Given the description of an element on the screen output the (x, y) to click on. 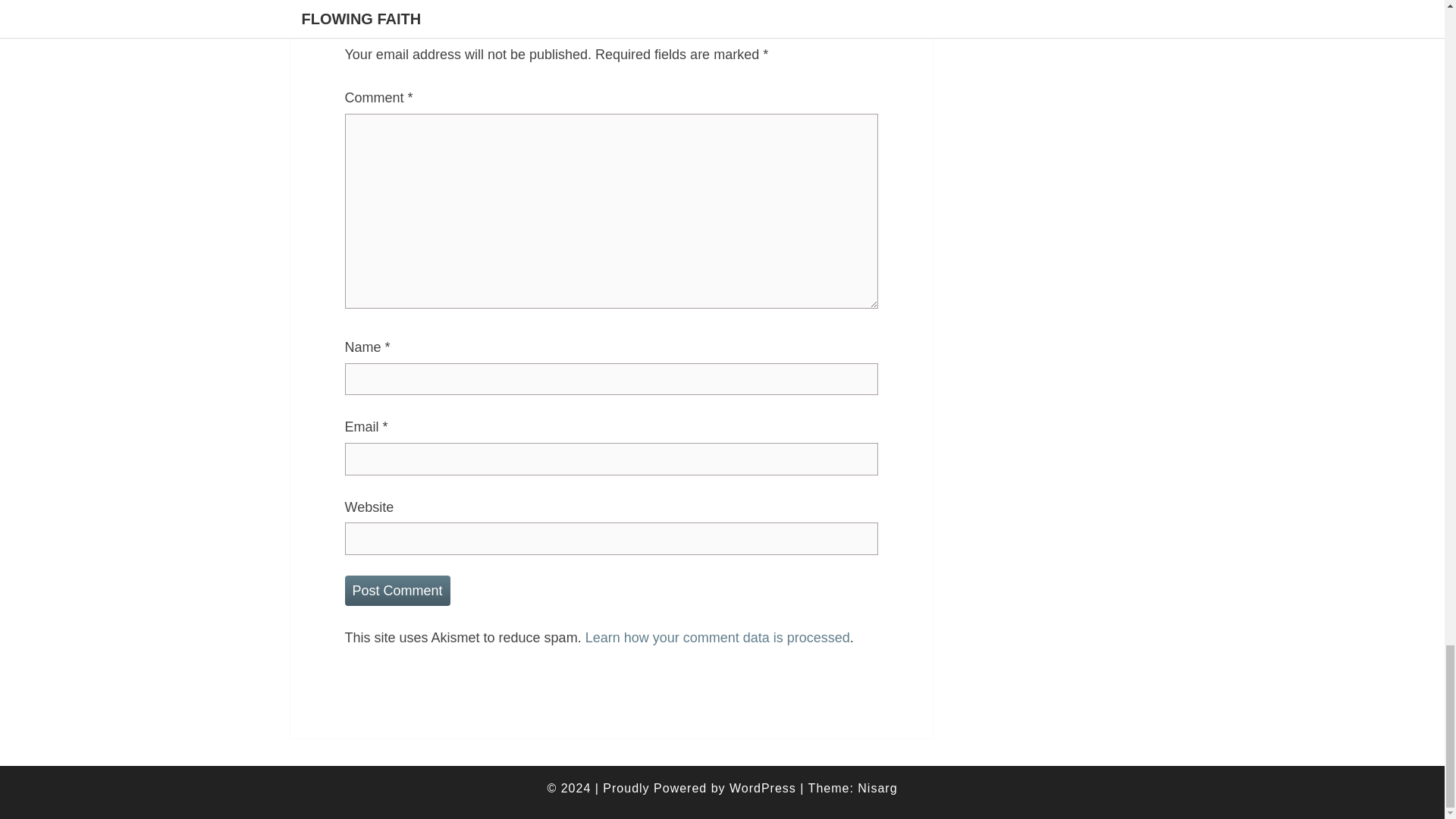
Post Comment (396, 590)
Post Comment (396, 590)
Learn how your comment data is processed (717, 637)
